Given the description of an element on the screen output the (x, y) to click on. 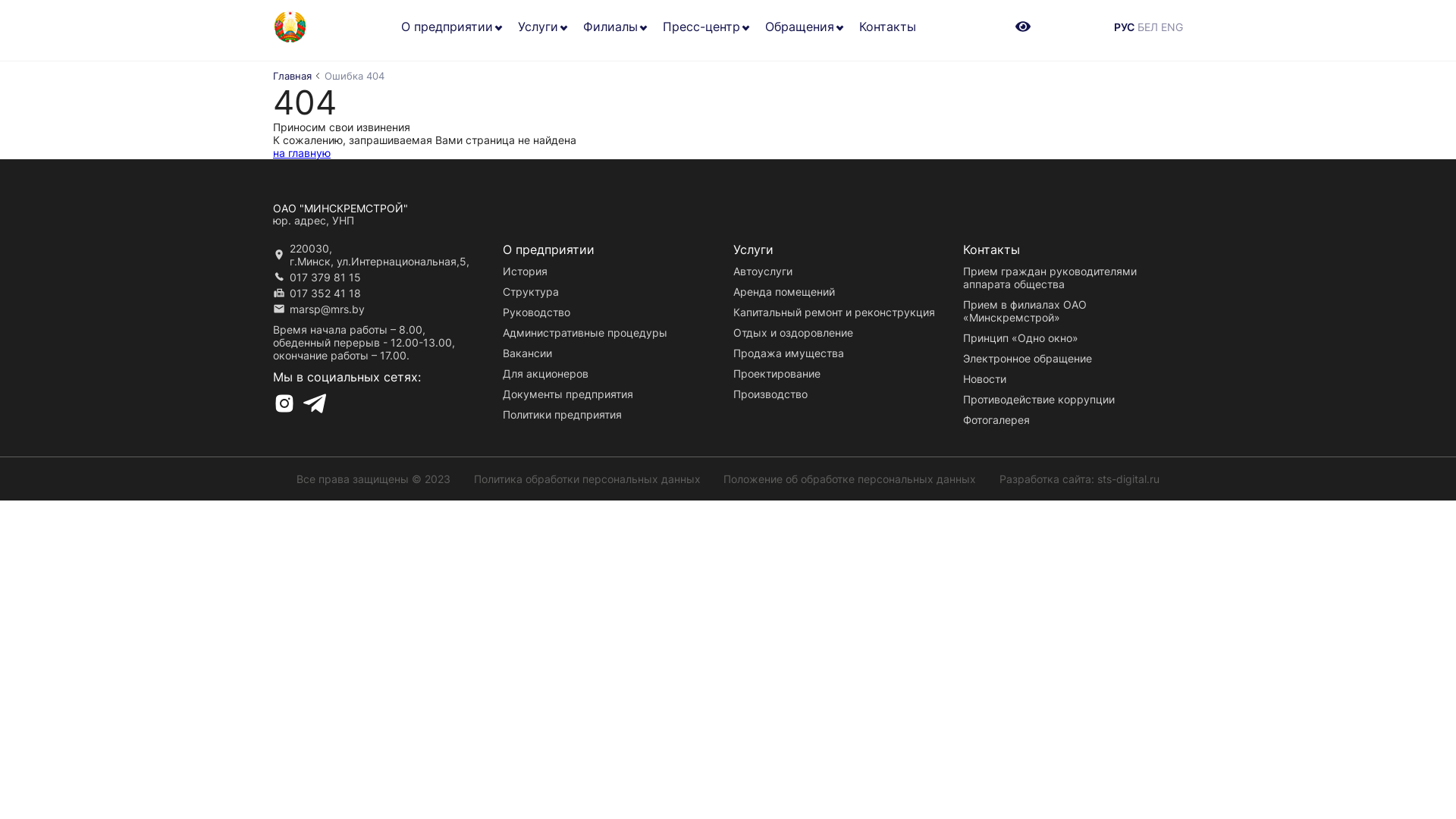
017 352 41 18 Element type: text (324, 292)
marsp@mrs.by Element type: text (326, 308)
ENG Element type: text (1172, 25)
017 379 81 15 Element type: text (324, 276)
